Given the description of an element on the screen output the (x, y) to click on. 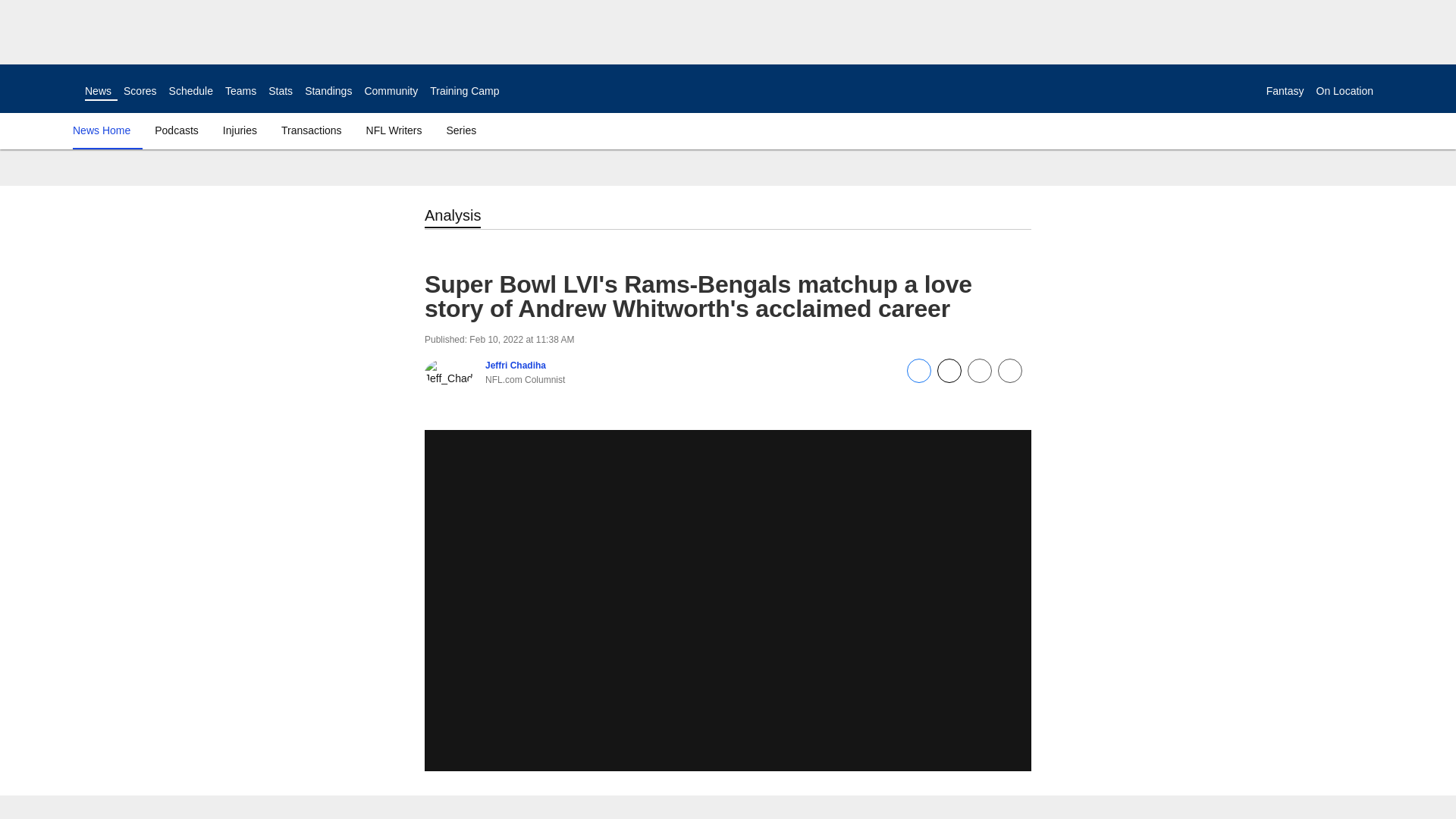
Teams (240, 91)
Schedule (190, 91)
News (98, 91)
News (98, 91)
Scores (140, 91)
Link to NFL homepage (42, 88)
Scores (140, 91)
Stats (279, 91)
Teams (240, 91)
Schedule (190, 91)
